Given the description of an element on the screen output the (x, y) to click on. 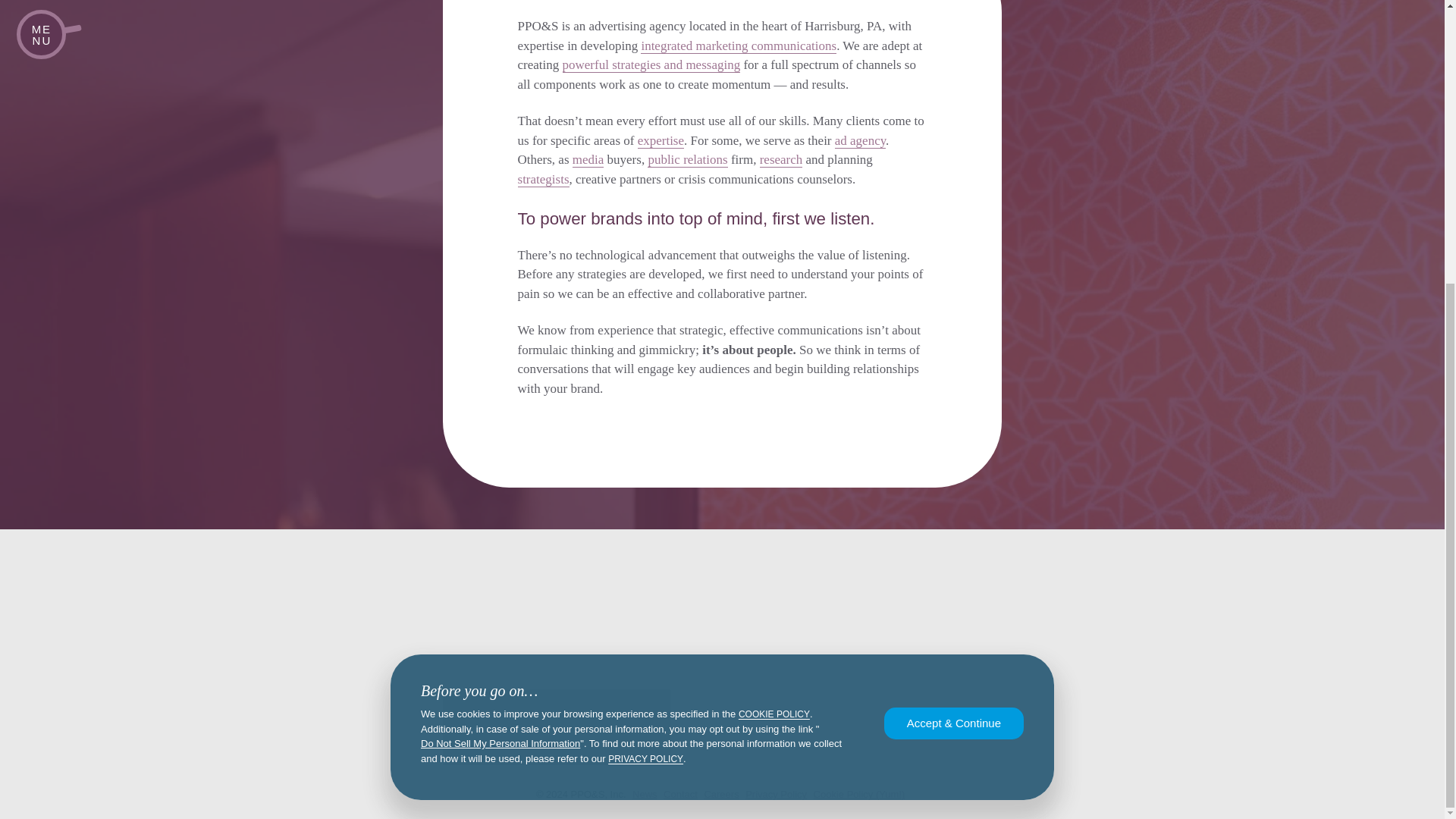
public relations (686, 159)
Privacy Policy (775, 794)
COOKIE POLICY (773, 288)
PRIVACY POLICY (645, 333)
media (588, 159)
ad agency (859, 140)
expertise (660, 140)
strategists (543, 179)
integrated marketing communications (737, 46)
News (644, 794)
Careers (720, 794)
Do Not Sell My Personal Information (499, 318)
Contact (680, 794)
research (781, 159)
powerful strategies and messaging (651, 64)
